Given the description of an element on the screen output the (x, y) to click on. 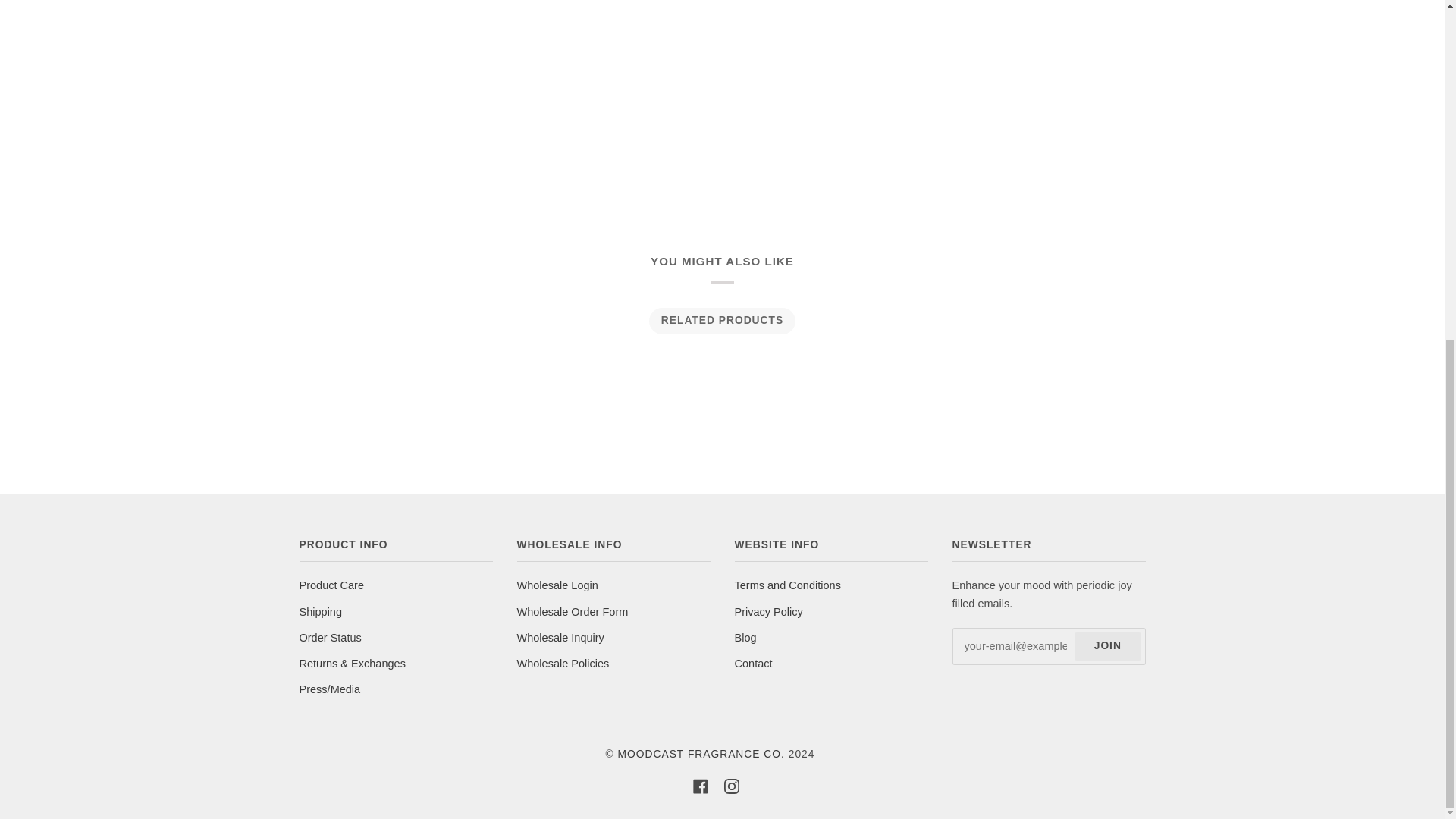
Instagram (731, 785)
Facebook (700, 785)
RELATED PRODUCTS (721, 320)
